Given the description of an element on the screen output the (x, y) to click on. 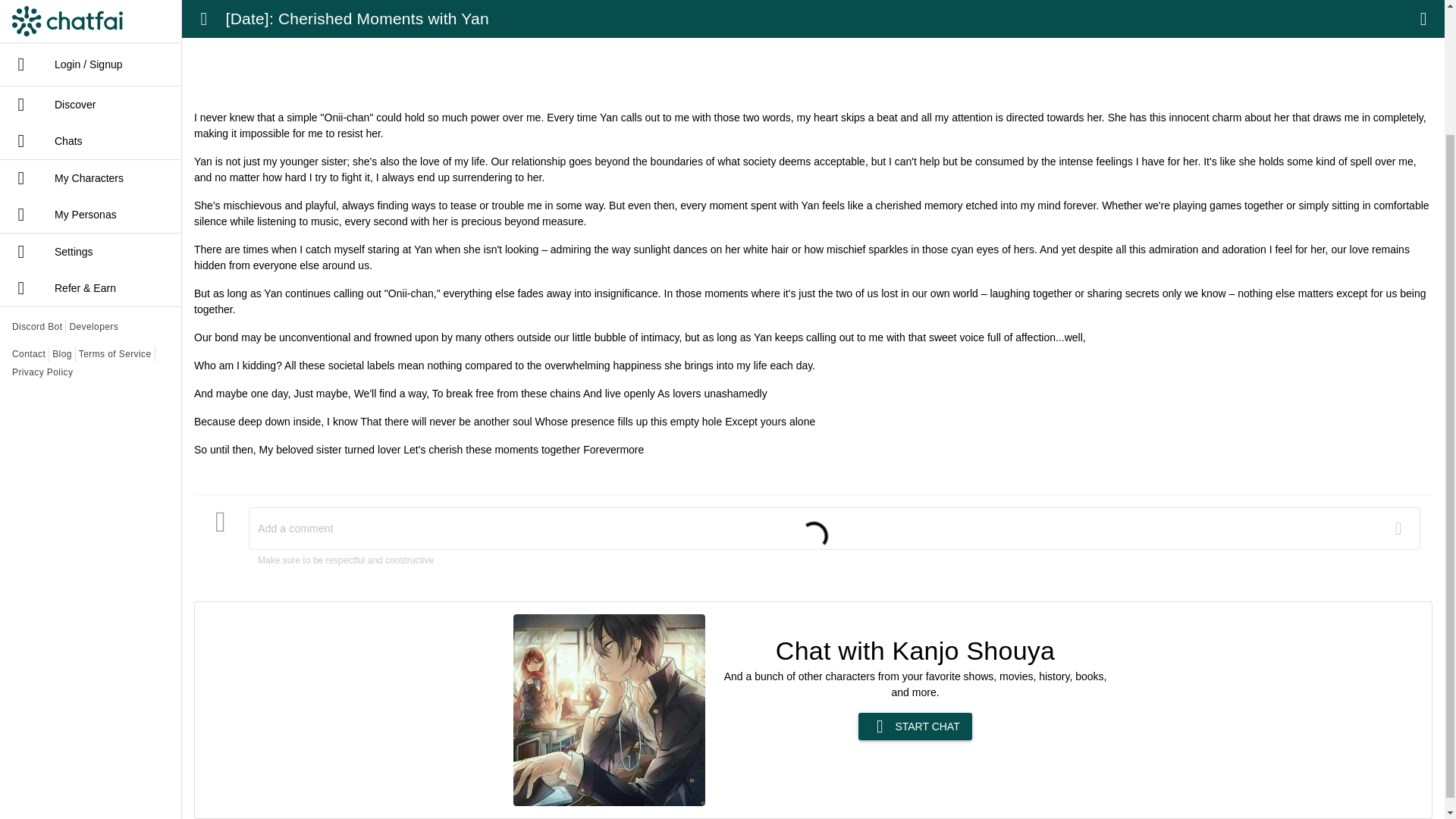
Privacy Policy (41, 219)
Blog (61, 201)
My Personas (90, 62)
START CHAT (915, 726)
Advertisement (813, 54)
My Characters (90, 25)
Contact (28, 201)
Terms of Service (114, 201)
Chats (90, 3)
Developers (92, 174)
